Given the description of an element on the screen output the (x, y) to click on. 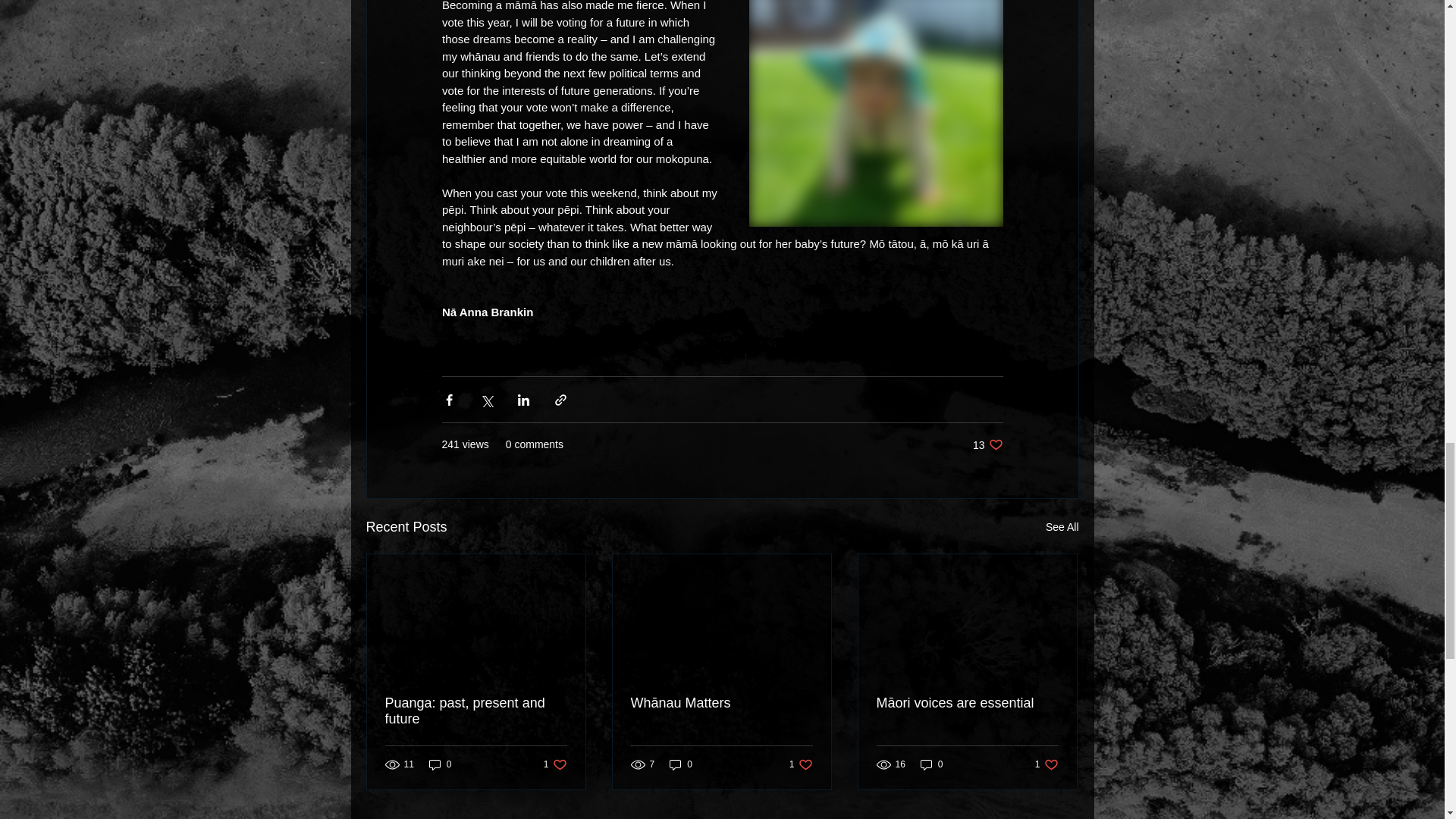
0 (440, 763)
See All (987, 444)
Puanga: past, present and future (1046, 763)
0 (1061, 527)
0 (476, 711)
